Given the description of an element on the screen output the (x, y) to click on. 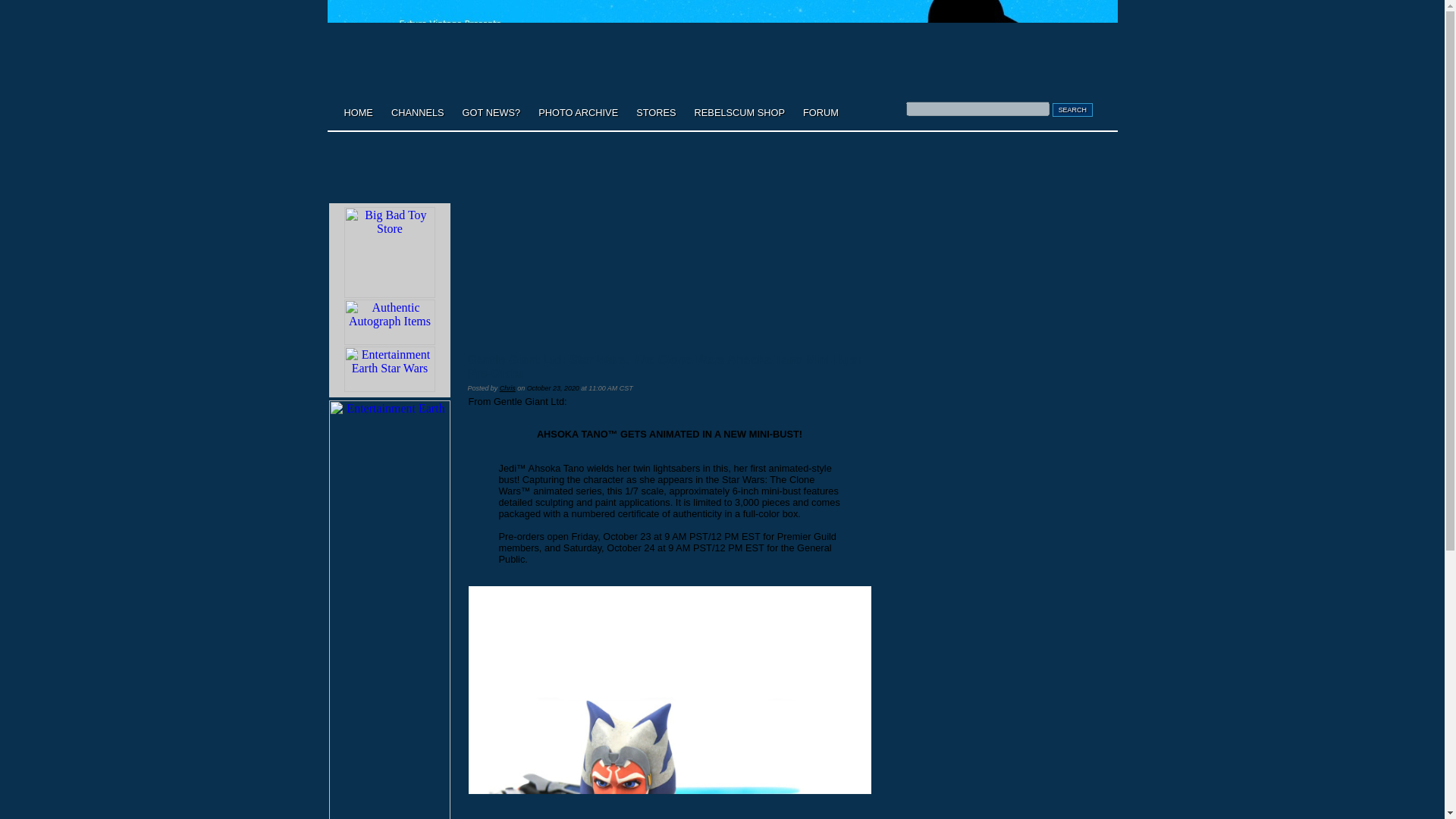
CHANNELS (417, 112)
HOME (357, 112)
SEARCH (1072, 110)
GOT NEWS? (492, 112)
